Given the description of an element on the screen output the (x, y) to click on. 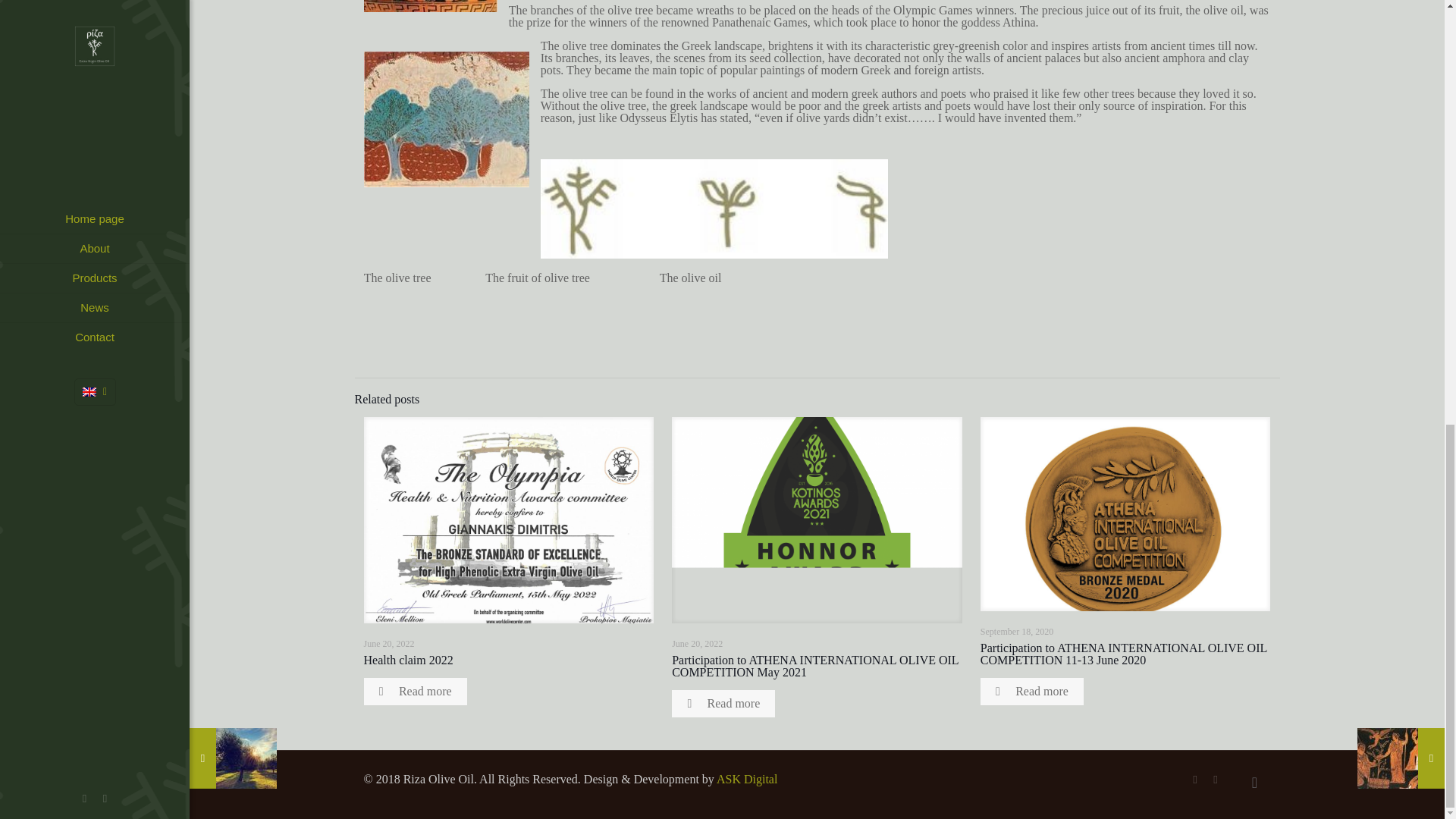
ASK Digital (746, 779)
Read more (722, 703)
Instagram (1215, 779)
Read more (415, 691)
Health claim 2022 (408, 659)
Read more (1031, 691)
Facebook (1196, 779)
